Given the description of an element on the screen output the (x, y) to click on. 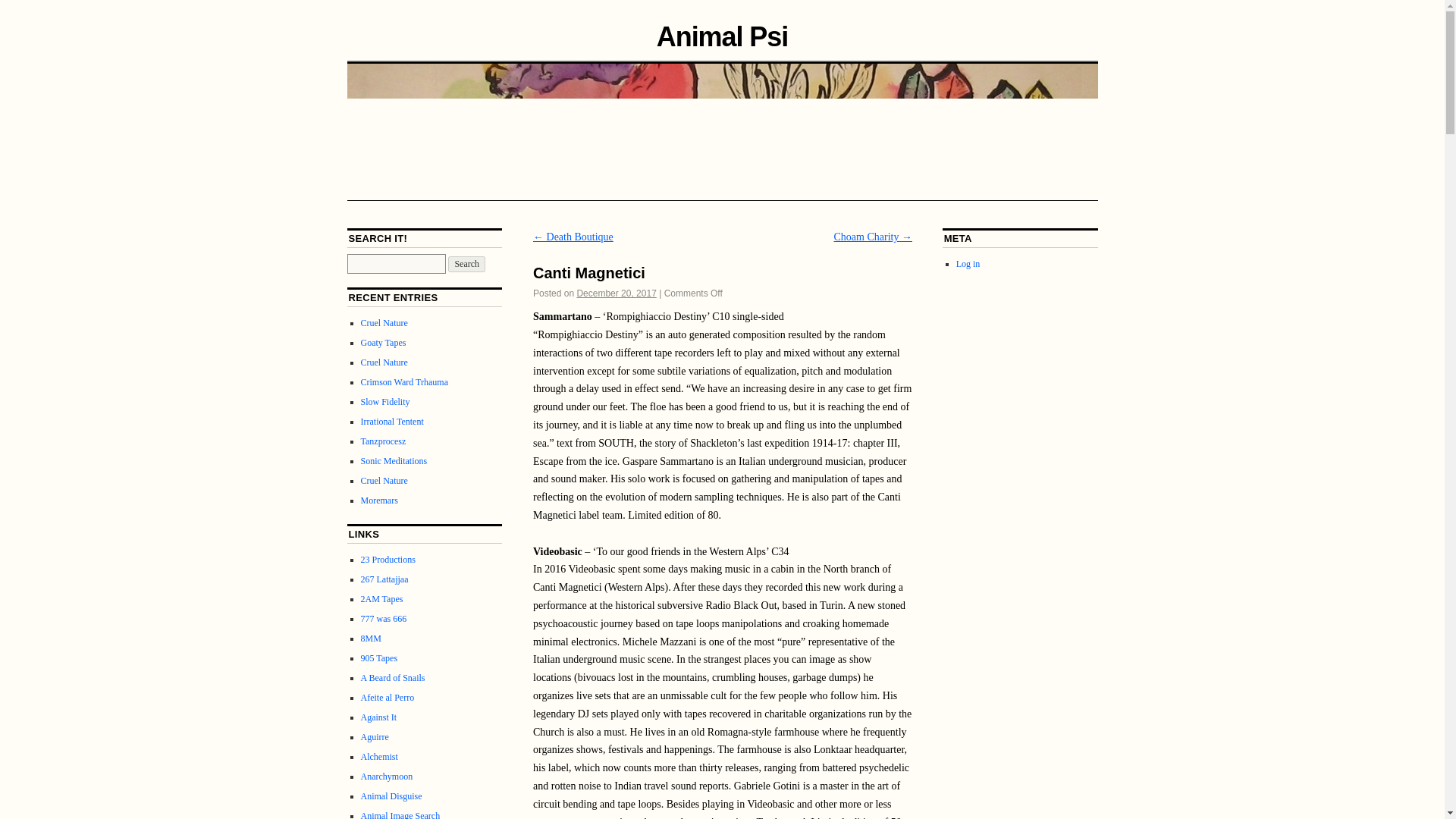
Cruel Nature (384, 362)
Anarchymoon (387, 776)
December 20, 2017 (616, 293)
Goaty Tapes (383, 342)
Animal Psi (721, 36)
8MM (371, 638)
Animal Image Search (401, 814)
Crimson Ward Trhauma (404, 381)
Search (466, 263)
Animal Psi (721, 36)
Cruel Nature (384, 480)
267 Lattajjaa (385, 579)
A Beard of Snails (393, 677)
Slow Fidelity (385, 401)
777 was 666 (384, 618)
